Given the description of an element on the screen output the (x, y) to click on. 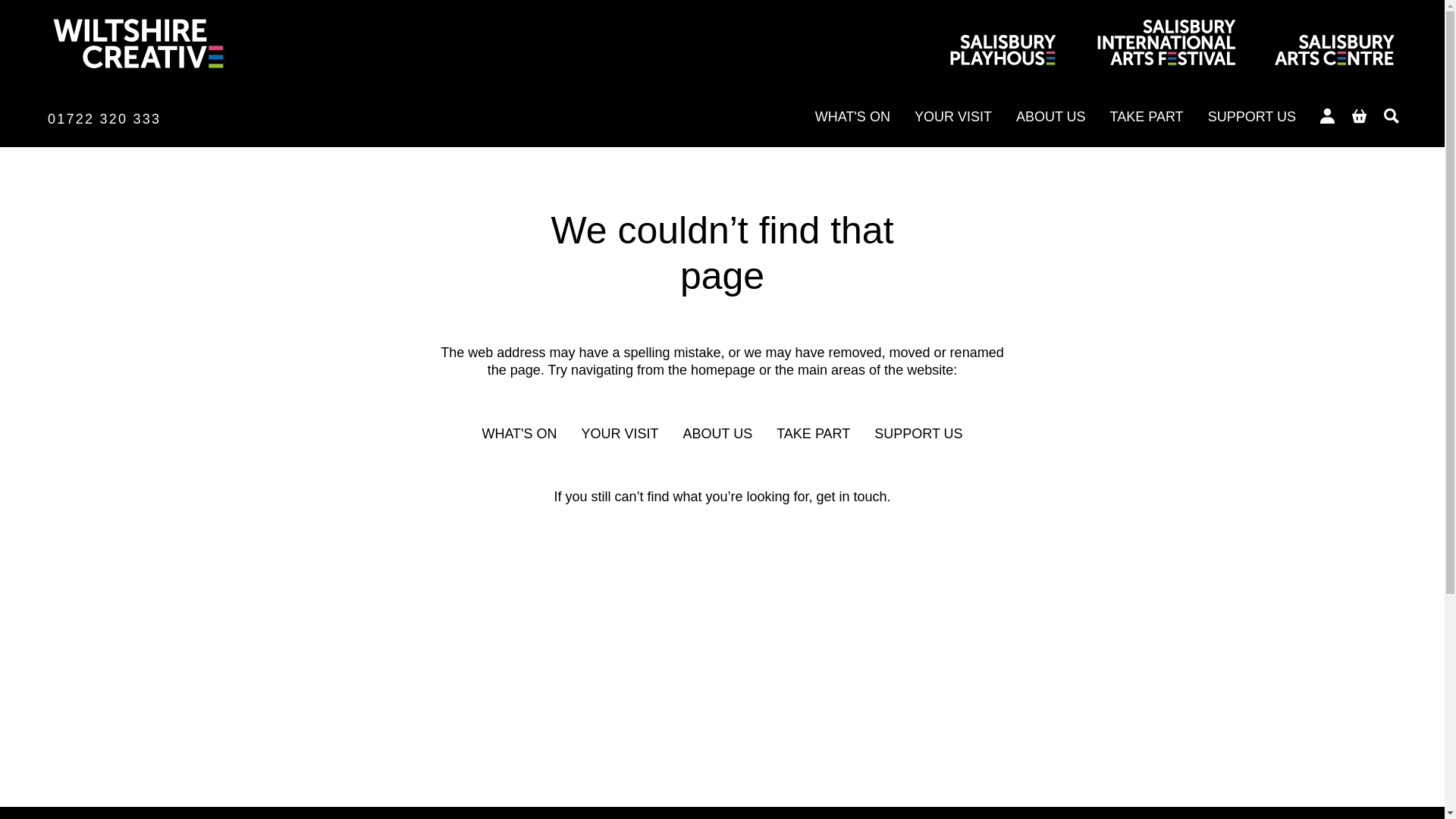
YOUR VISIT (952, 117)
WHAT'S ON (852, 117)
SEARCH (1391, 115)
TAKE PART (1146, 117)
TAKE PART (813, 434)
SUPPORT US (918, 434)
ABOUT US (717, 434)
MY ACCOUNT (1327, 115)
Wiltshire Creative (137, 52)
01722 320 333 (104, 118)
